Given the description of an element on the screen output the (x, y) to click on. 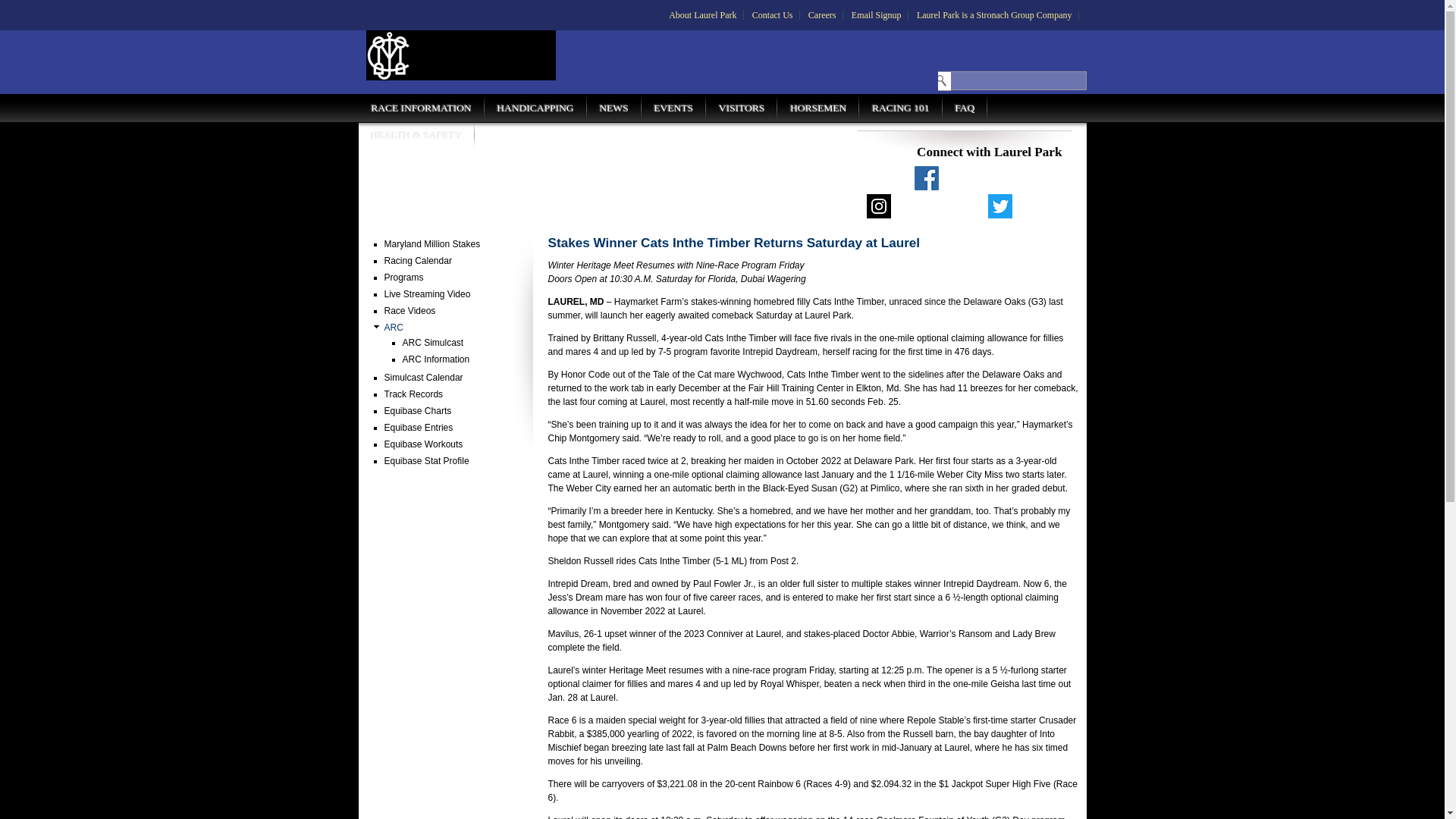
Charts (417, 410)
Home (459, 55)
Laurel Park is a Stronach Group Company (994, 14)
Stakes Winner Cats Inthe Timber Returns Saturday at Laurel (733, 242)
HANDICAPPING (535, 108)
NEWS (614, 108)
EVENTS (674, 108)
About Laurel Park (702, 14)
Email Signup (876, 14)
VISITORS (741, 108)
